Given the description of an element on the screen output the (x, y) to click on. 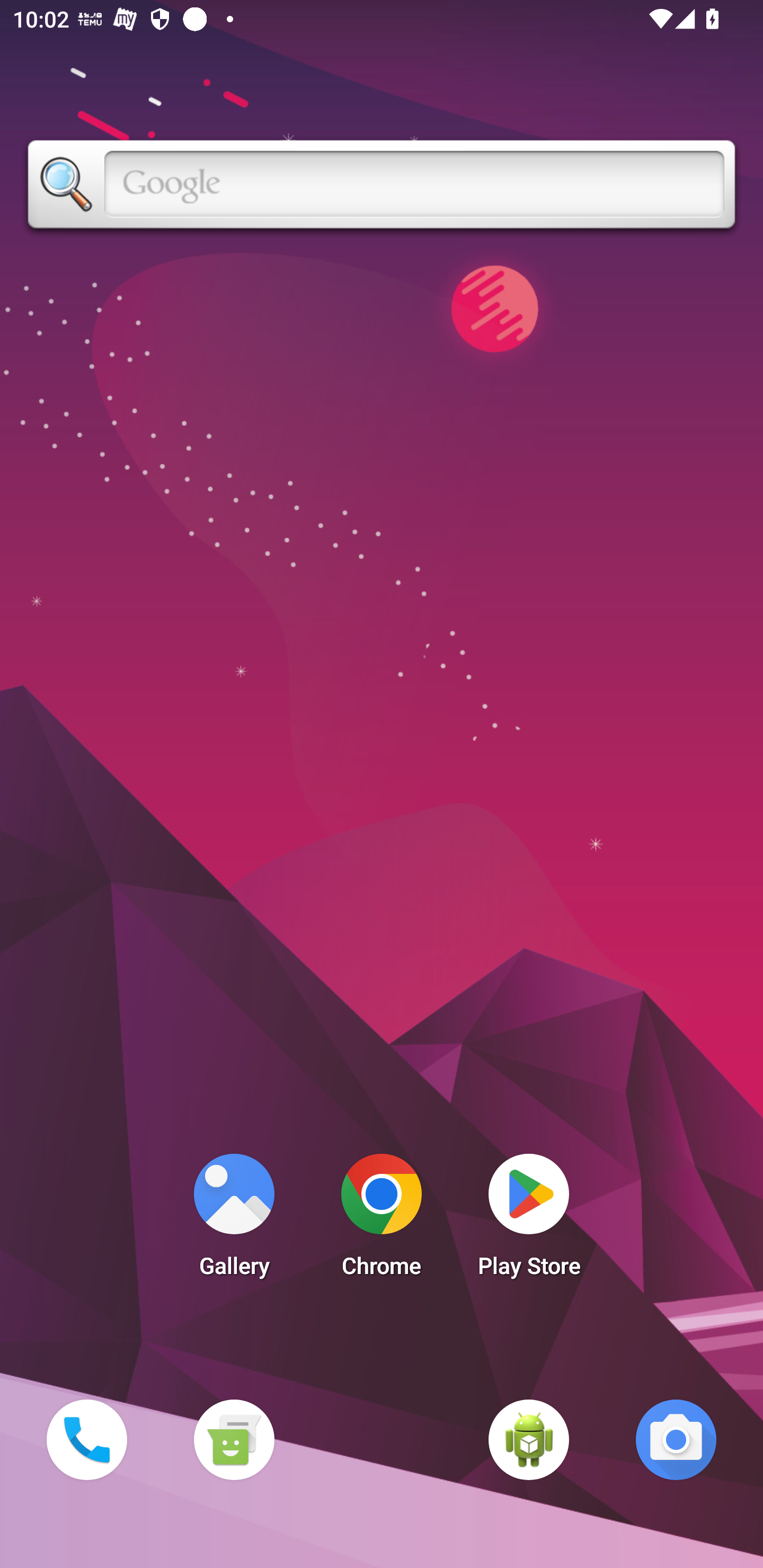
Gallery (233, 1220)
Chrome (381, 1220)
Play Store (528, 1220)
Phone (86, 1439)
Messaging (233, 1439)
WebView Browser Tester (528, 1439)
Camera (676, 1439)
